Given the description of an element on the screen output the (x, y) to click on. 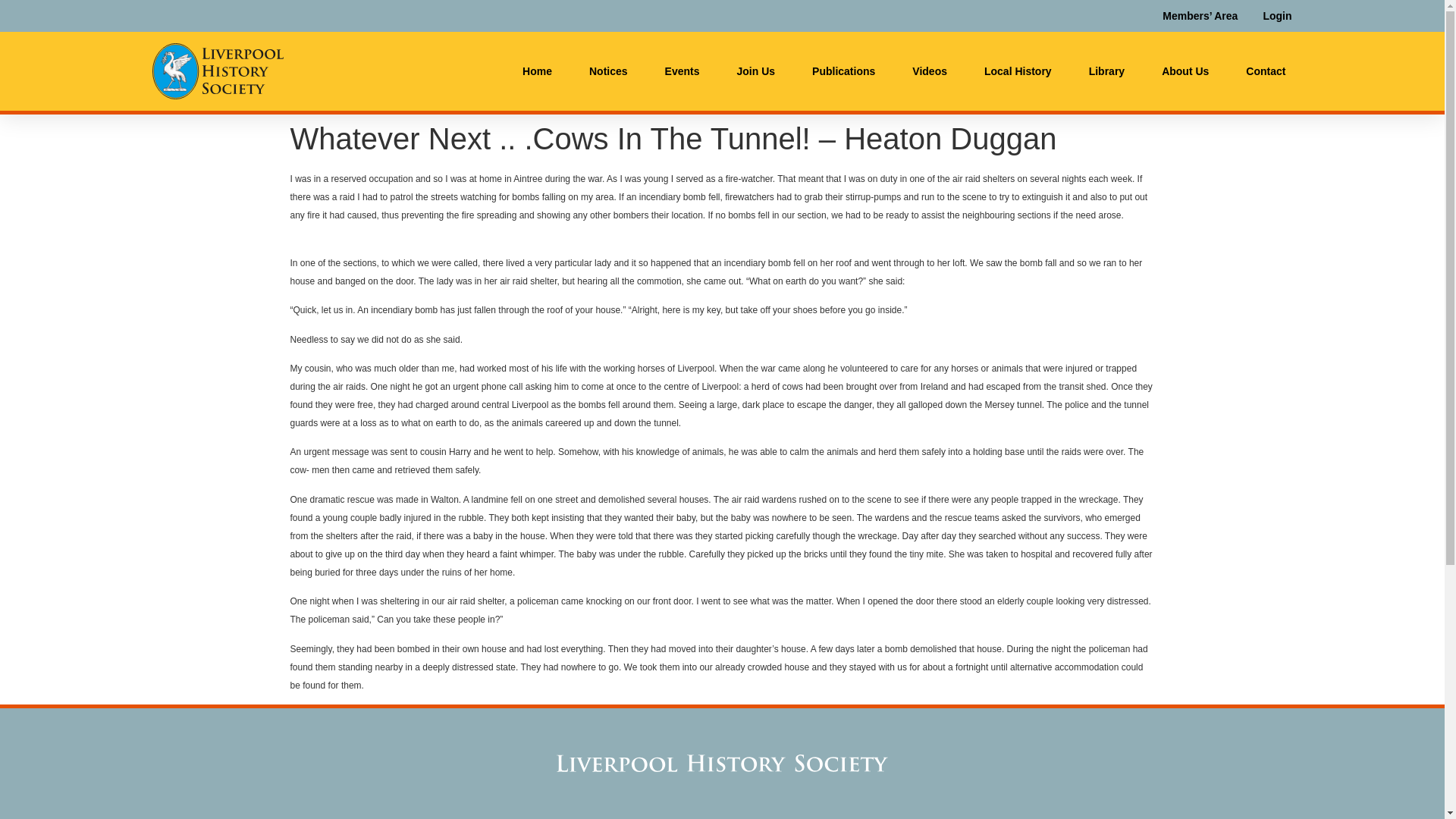
Join Us (755, 70)
Notices (608, 70)
Publications (843, 70)
Login (1277, 15)
About Us (1184, 70)
Videos (929, 70)
Home (537, 70)
Library (1106, 70)
Local History (1017, 70)
Events (682, 70)
Contact (1265, 70)
